Given the description of an element on the screen output the (x, y) to click on. 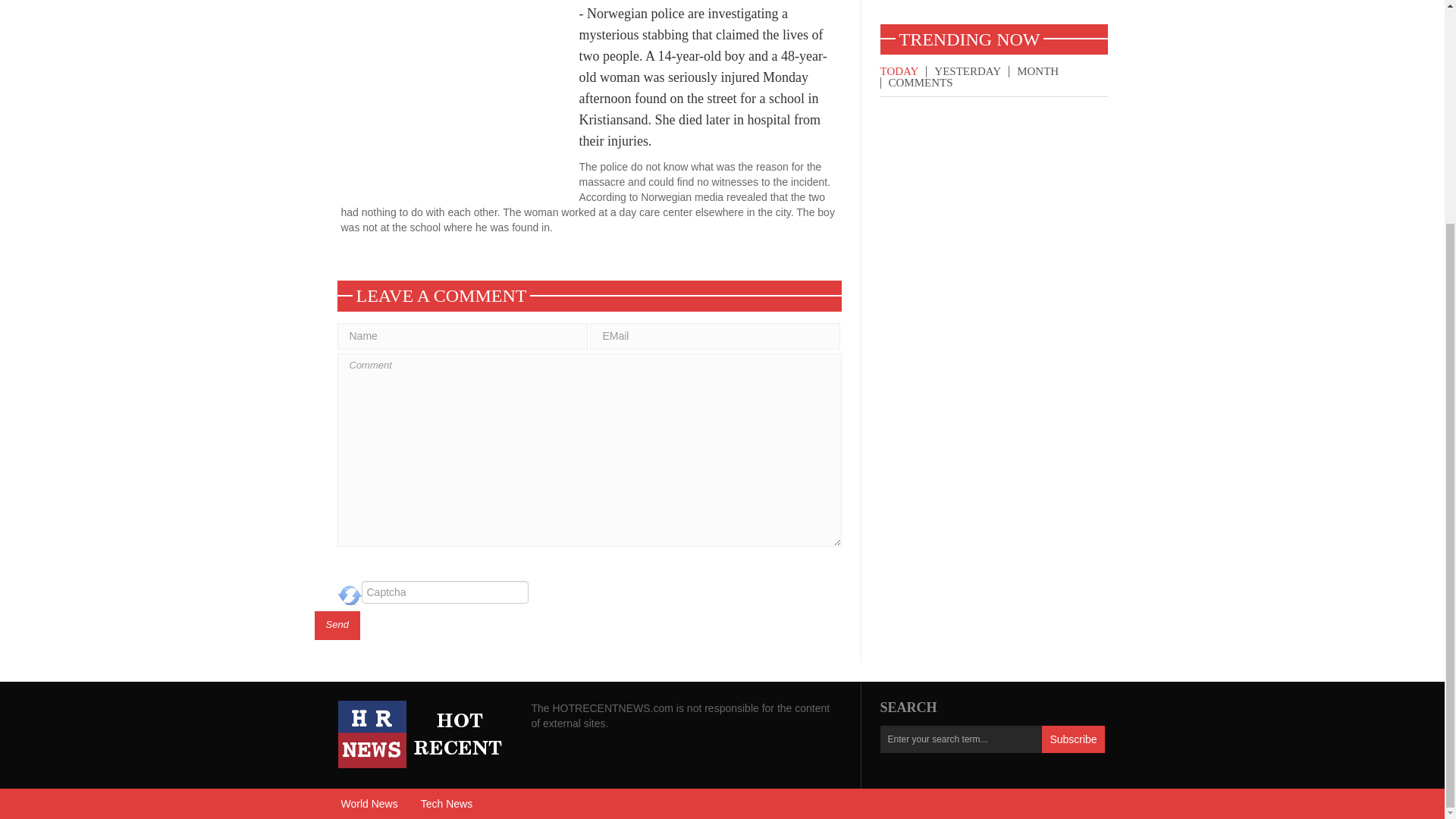
Enter your search term... (960, 738)
Advertisement (992, 12)
Send (336, 624)
Advertisement (459, 103)
Send (336, 624)
Subscribe (1072, 738)
